Given the description of an element on the screen output the (x, y) to click on. 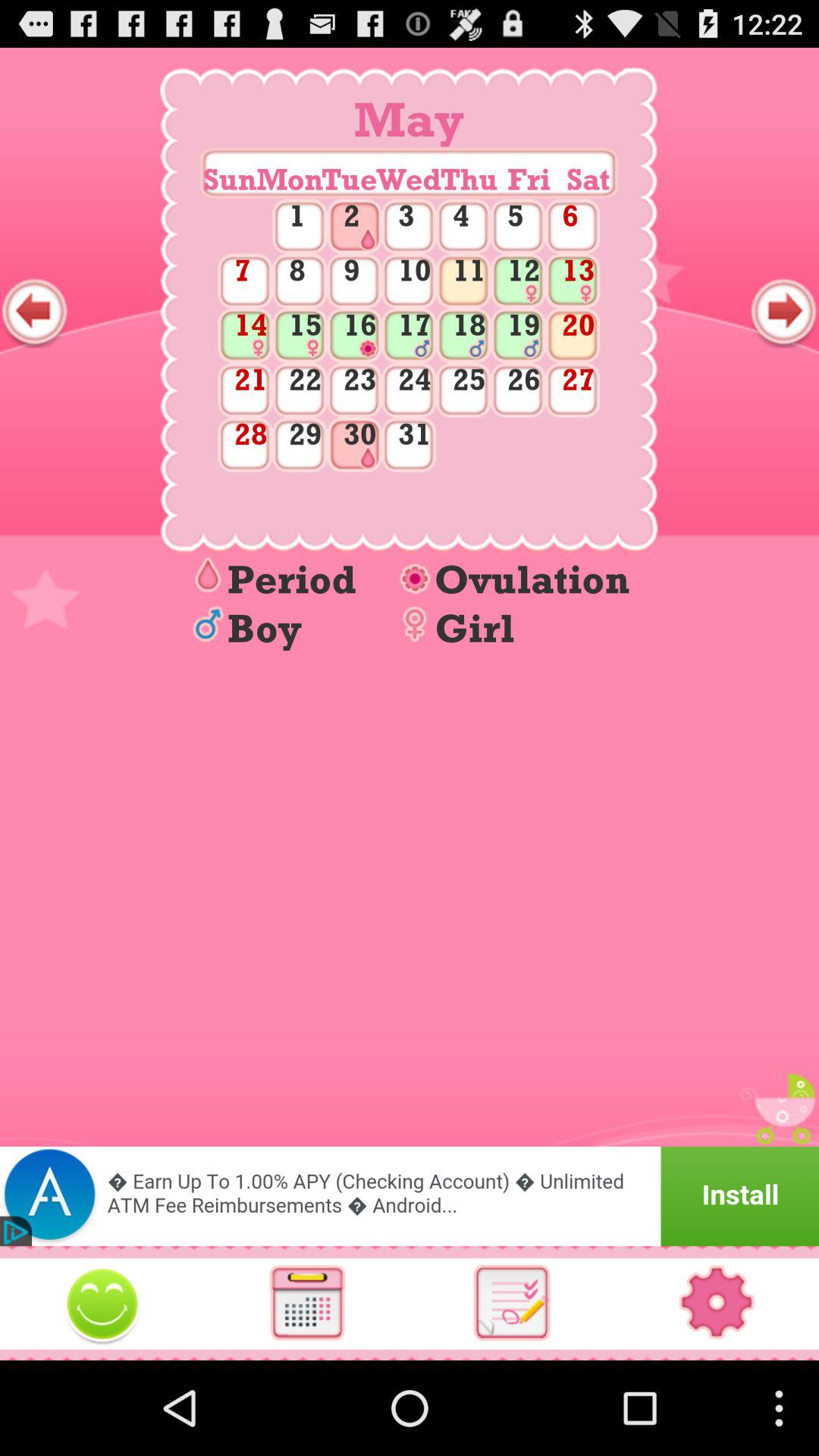
go back (34, 311)
